Given the description of an element on the screen output the (x, y) to click on. 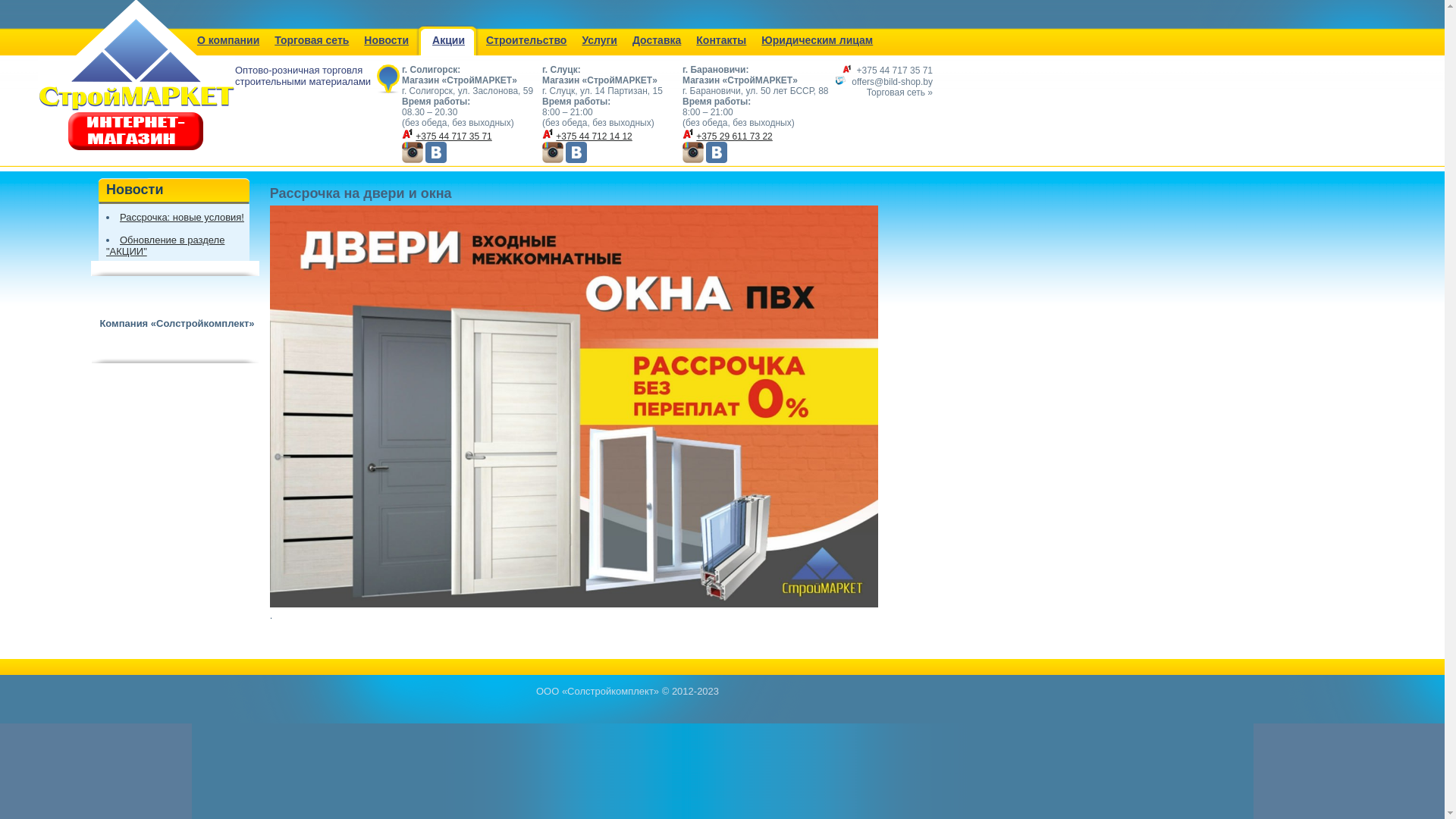
offers@bild-shop.by Element type: text (891, 81)
+375 44 712 14 12 Element type: text (593, 136)
+375 44 717 35 71 Element type: text (453, 136)
+375 29 611 73 22 Element type: text (733, 136)
+375 44 717 35 71 Element type: text (894, 70)
